Given the description of an element on the screen output the (x, y) to click on. 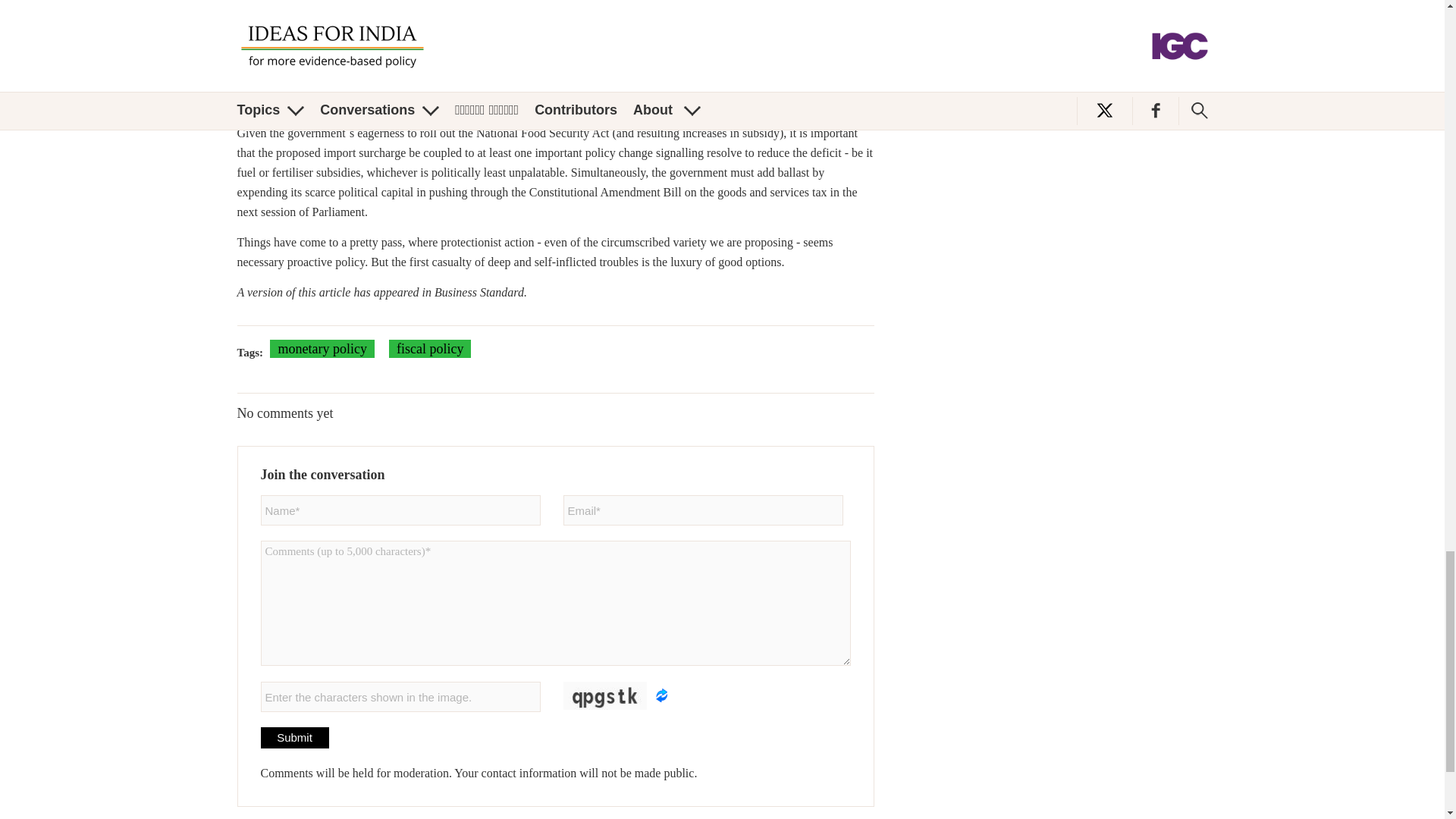
Verification code (400, 696)
Submit (294, 737)
Captcha Reload (661, 695)
